Given the description of an element on the screen output the (x, y) to click on. 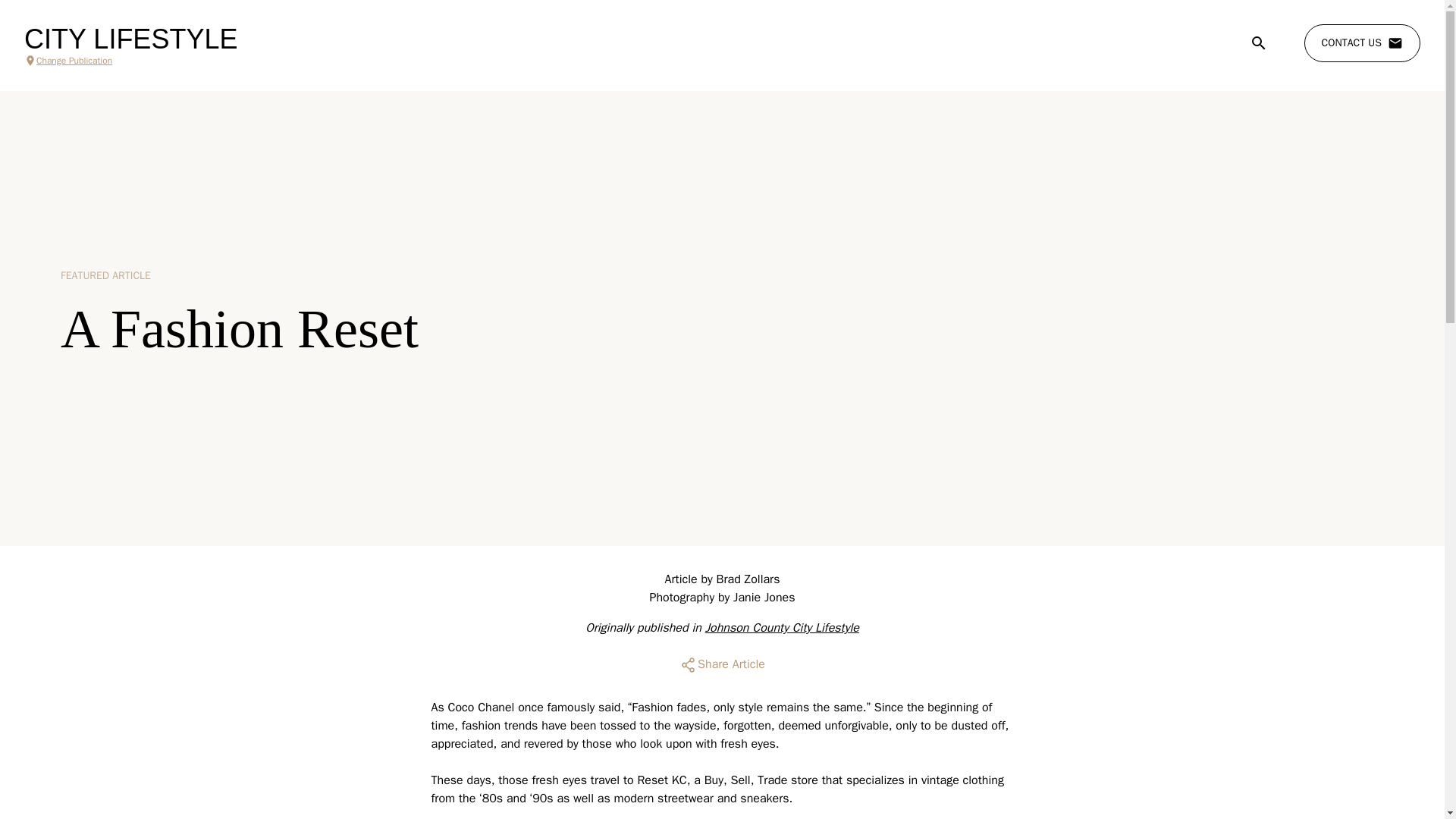
Change Publication (130, 60)
CONTACT US (1362, 43)
CITY LIFESTYLE (130, 39)
Johnson County City Lifestyle (781, 627)
Share Article (722, 664)
